Given the description of an element on the screen output the (x, y) to click on. 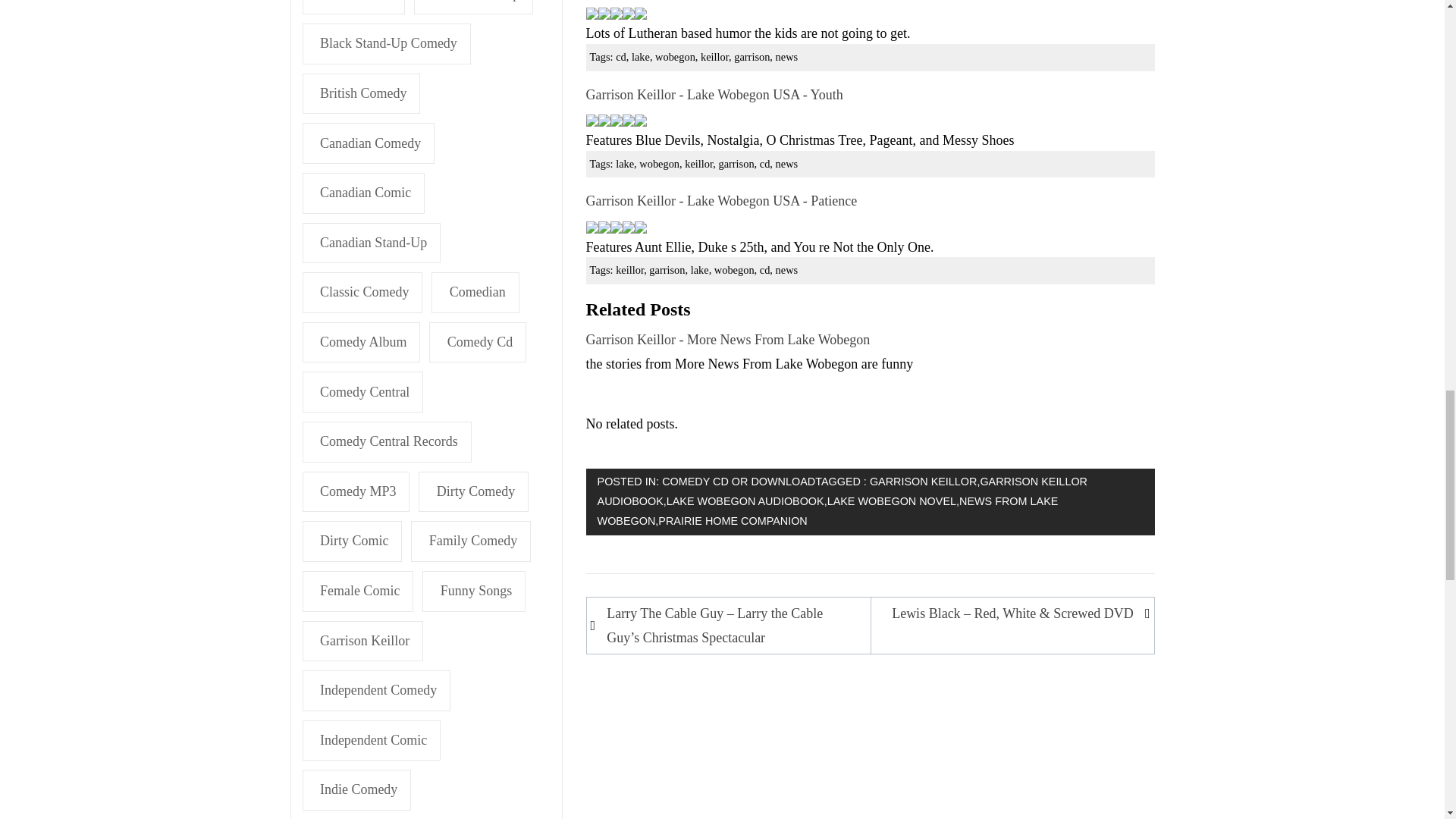
Garrison Keillor - Lake Wobegon USA - Patience (721, 200)
Garrison Keillor - Lake Wobegon USA - Patience (721, 200)
NEWS FROM LAKE WOBEGON (827, 511)
LAKE WOBEGON NOVEL (891, 500)
Garrison Keillor - Lake Wobegon USA - Youth (714, 94)
Garrison Keillor - More News From Lake Wobegon (728, 339)
GARRISON KEILLOR AUDIOBOOK (841, 490)
COMEDY CD OR DOWNLOAD (738, 481)
Garrison Keillor - Lake Wobegon USA - Youth (714, 94)
LAKE WOBEGON AUDIOBOOK (745, 500)
PRAIRIE HOME COMPANION (732, 521)
GARRISON KEILLOR (922, 481)
